Given the description of an element on the screen output the (x, y) to click on. 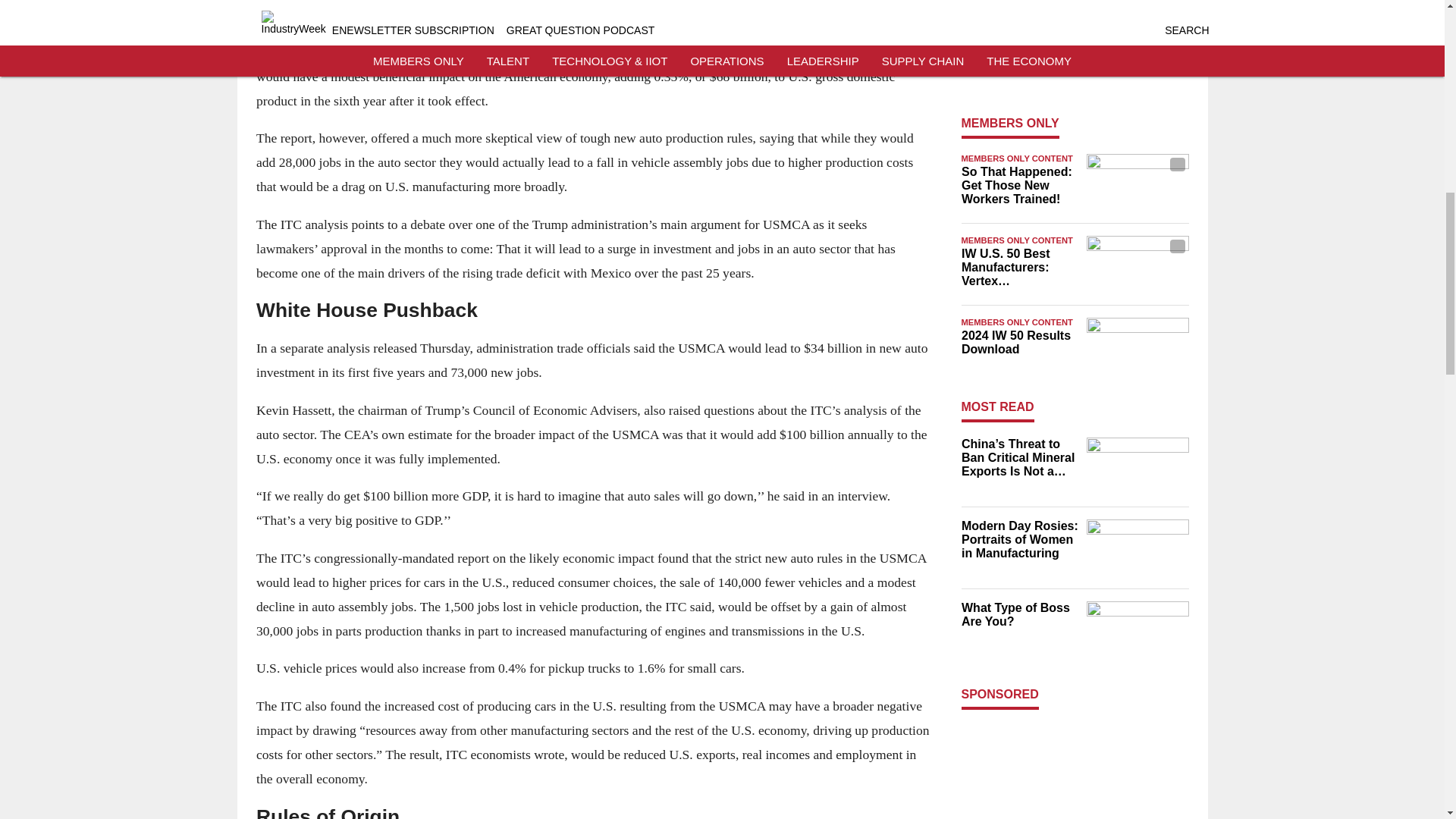
MEMBERS ONLY (1009, 123)
So That Happened: Get Those New Workers Trained! (1019, 185)
Industry 4.0 Gains Are Ahead of the Tools to Measure Them (1019, 54)
2024 IW 50 Results Download (1019, 342)
